Given the description of an element on the screen output the (x, y) to click on. 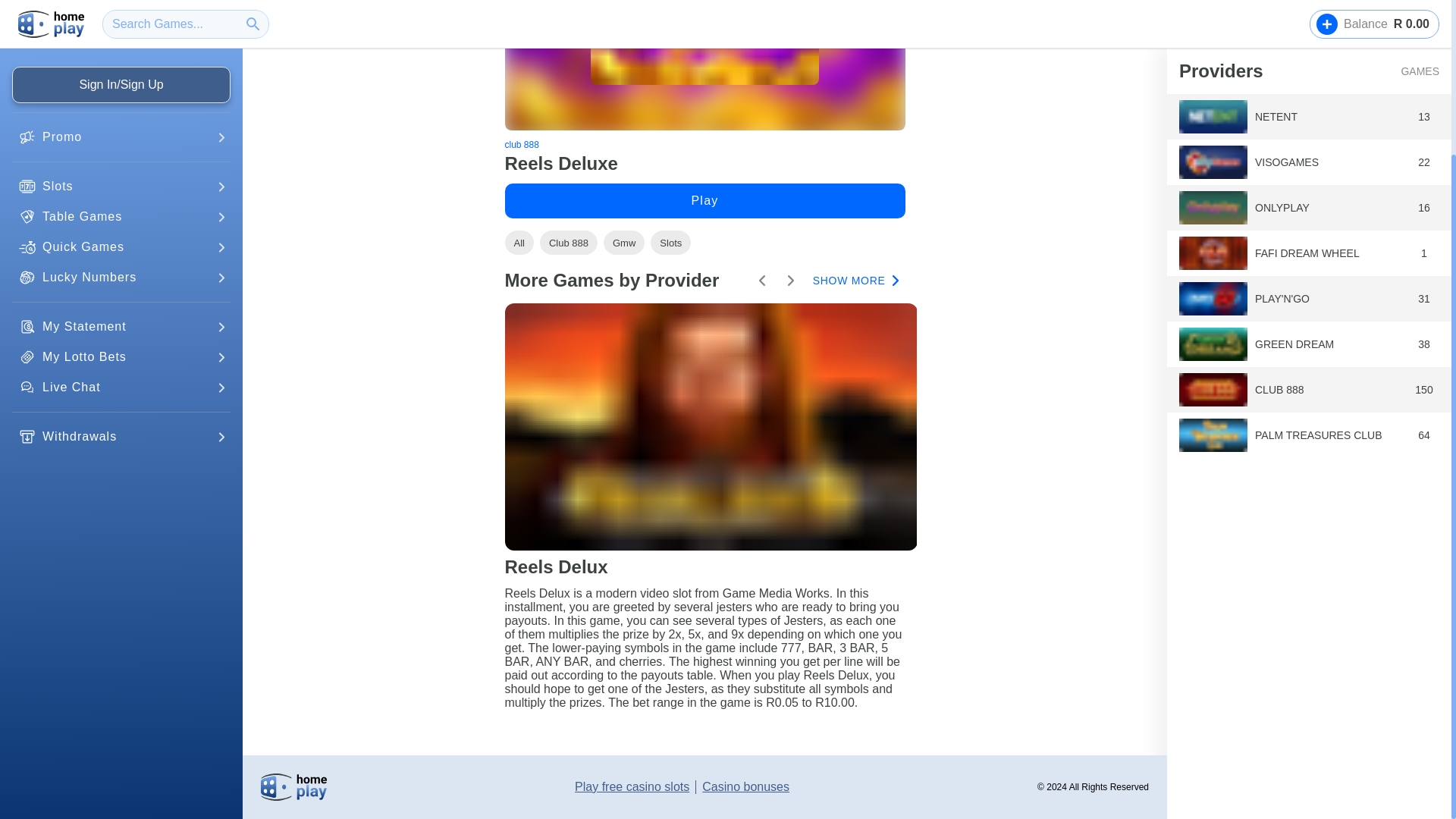
Play (705, 200)
SHOW MORE (854, 280)
All (519, 242)
Slots (120, 3)
Lucky Numbers (120, 86)
My Lotto Bets (120, 165)
Gmw (624, 242)
Withdrawals (120, 245)
Club 888 (568, 242)
My Statement (120, 135)
Quick Games (120, 55)
Live Chat (120, 196)
Play free casino slots (631, 786)
Table Games (120, 25)
Slots (670, 242)
